Given the description of an element on the screen output the (x, y) to click on. 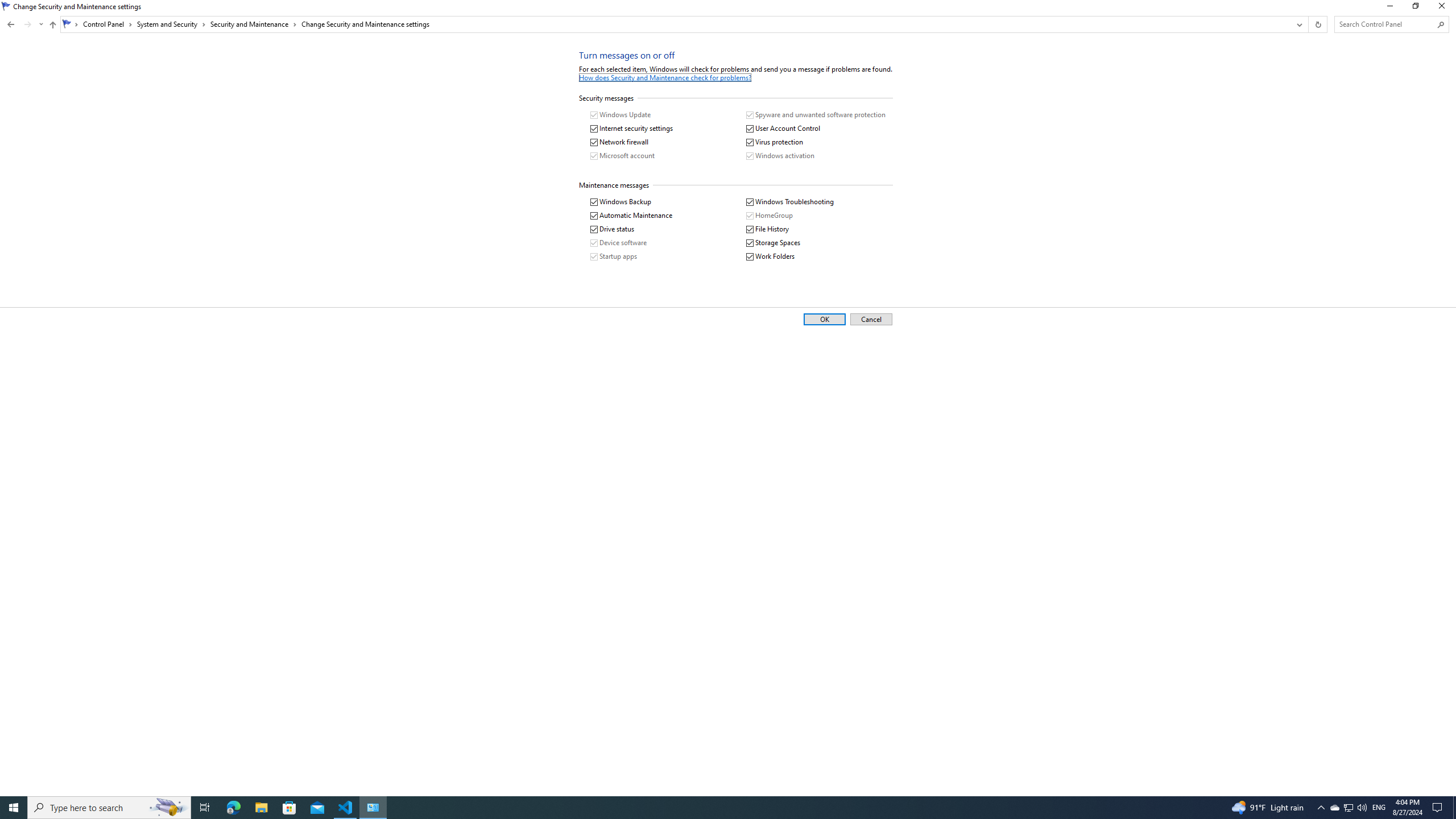
Previous Locations (1298, 23)
Network firewall (619, 142)
Internet security settings (631, 128)
Refresh "Change Security and Maintenance settings" (F5) (1316, 23)
Up to "Security and Maintenance" (Alt + Up Arrow) (52, 24)
Minimize (1388, 8)
Cancel (871, 318)
Windows Backup (620, 202)
System (6, 6)
Windows Troubleshooting (789, 202)
